Given the description of an element on the screen output the (x, y) to click on. 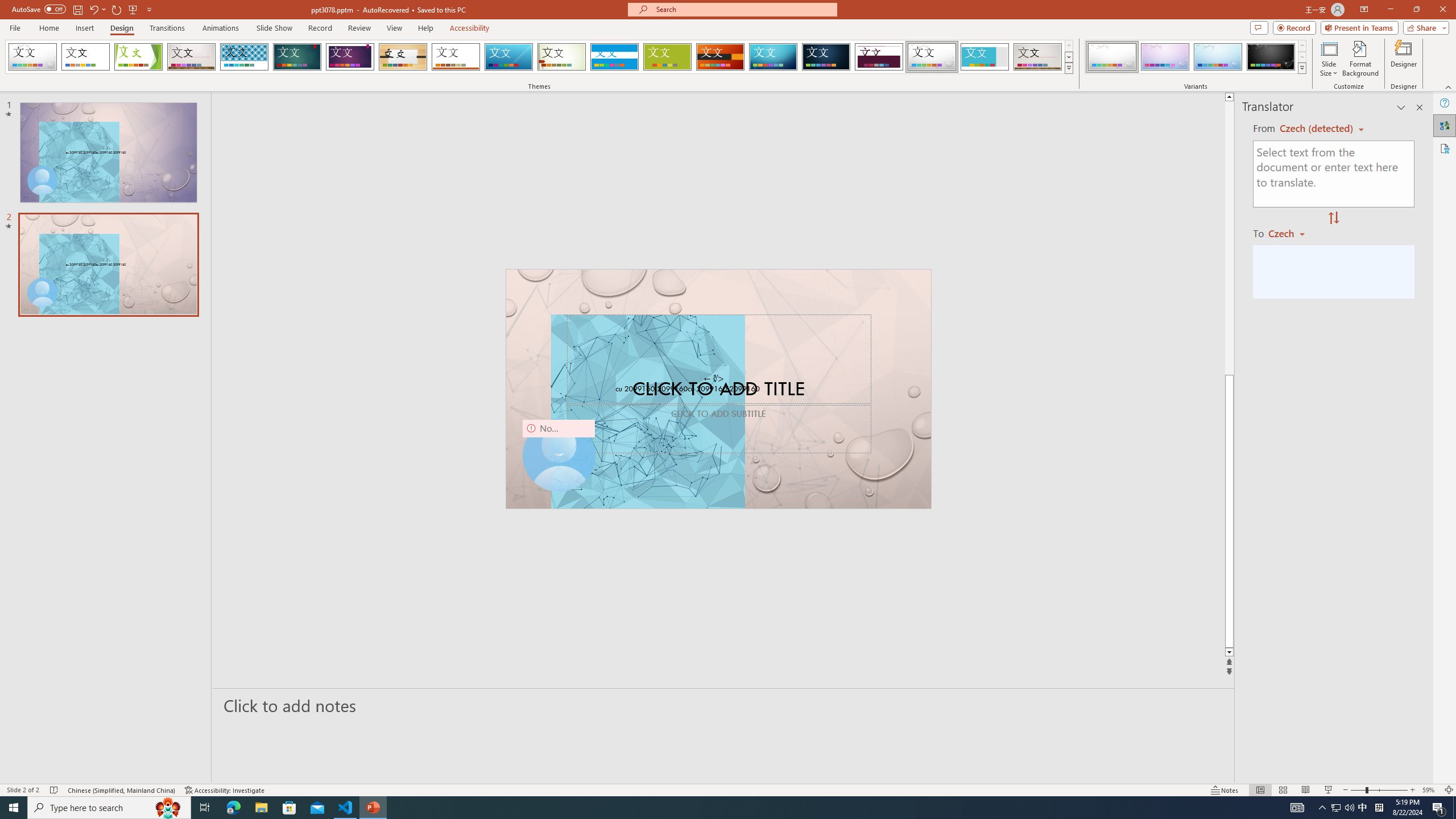
Slice (508, 56)
Banded (614, 56)
Swap "from" and "to" languages. (1333, 218)
Droplet Variant 3 (1217, 56)
